Given the description of an element on the screen output the (x, y) to click on. 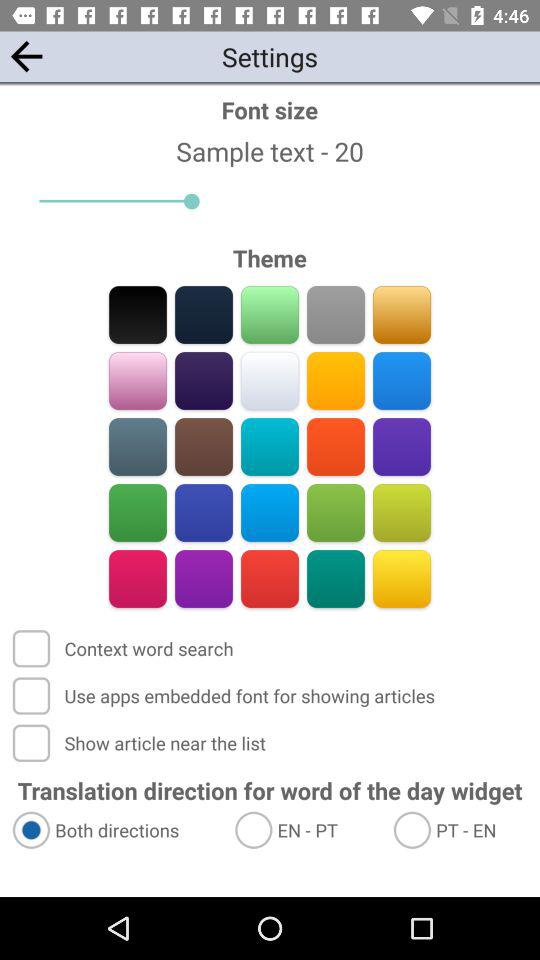
launch the checkbox above show article near item (225, 695)
